Given the description of an element on the screen output the (x, y) to click on. 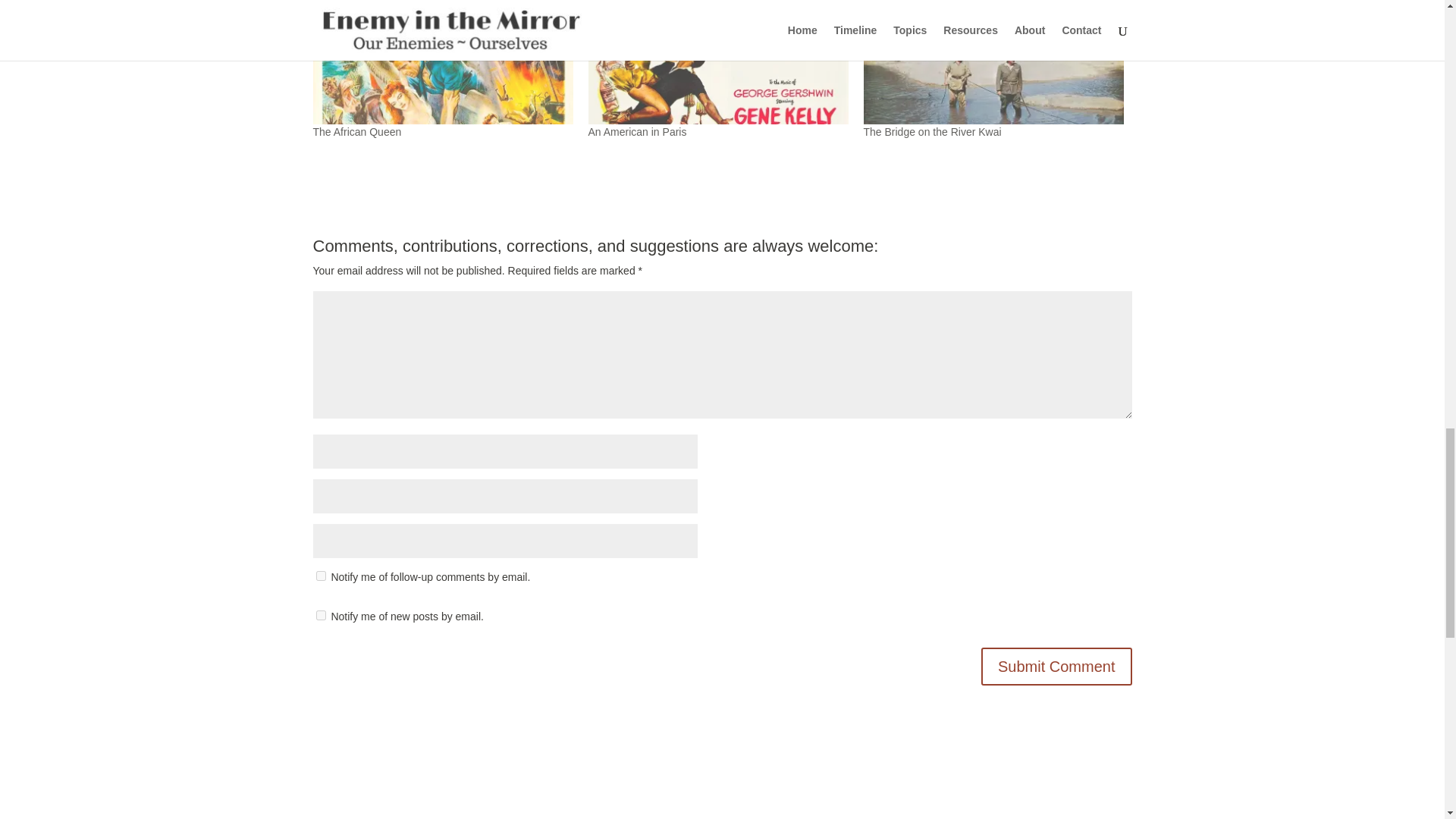
The Bridge on the River Kwai (992, 62)
The African Queen (357, 132)
An American in Paris (637, 132)
An American in Paris (718, 62)
subscribe (319, 575)
An American in Paris (637, 132)
The Bridge on the River Kwai (932, 132)
The African Queen (357, 132)
Submit Comment (1056, 666)
Submit Comment (1056, 666)
The African Queen (442, 62)
subscribe (319, 614)
The Bridge on the River Kwai (932, 132)
